Given the description of an element on the screen output the (x, y) to click on. 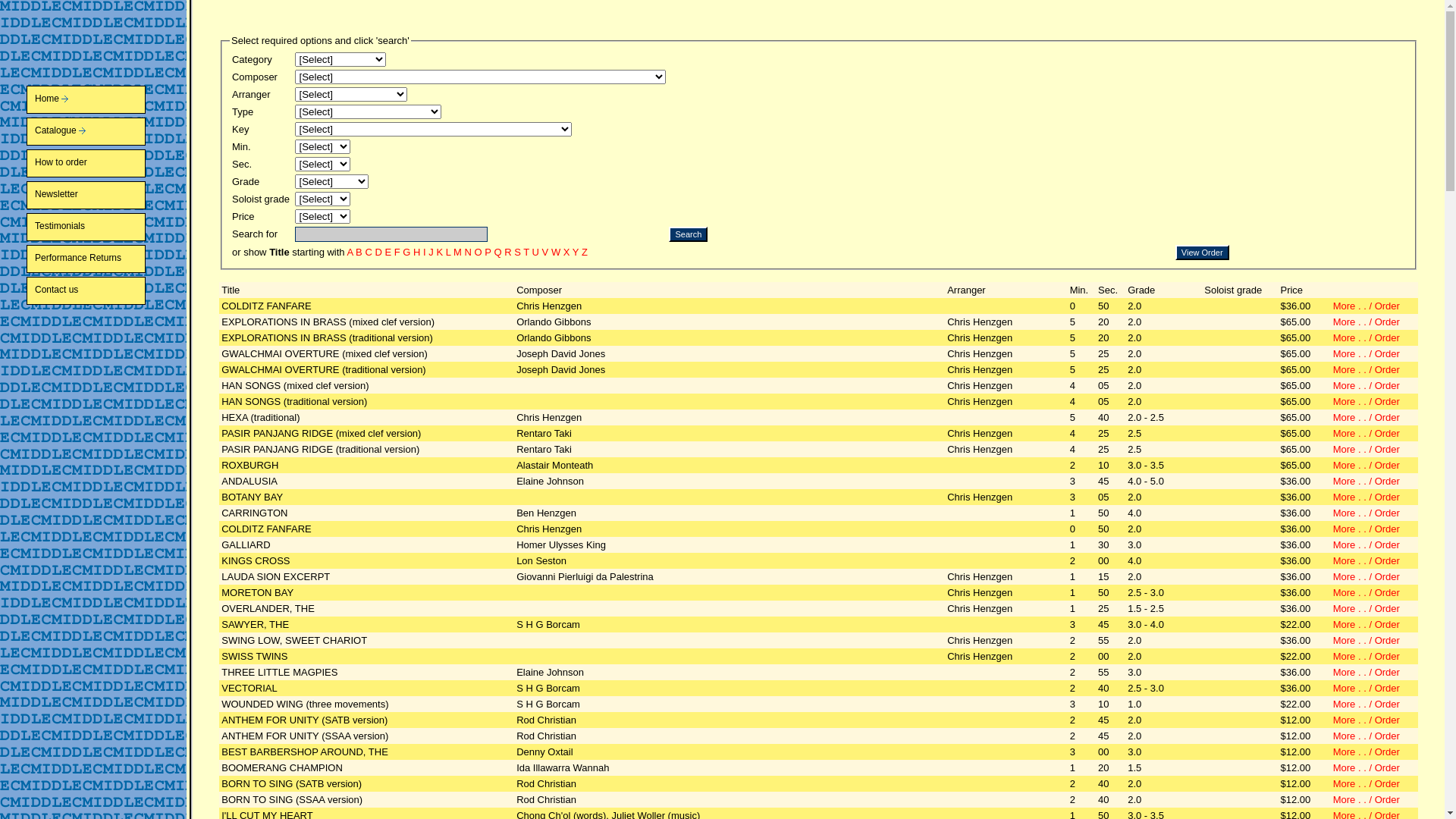
More . . / Order Element type: text (1366, 417)
More . . / Order Element type: text (1366, 624)
T Element type: text (526, 251)
W Element type: text (555, 251)
More . . / Order Element type: text (1366, 369)
L Element type: text (448, 251)
Newsletter Element type: text (104, 195)
Testimonials Element type: text (104, 227)
Performance Returns Element type: text (104, 258)
Contact us Element type: text (104, 290)
Y Element type: text (575, 251)
More . . / Order Element type: text (1366, 401)
B Element type: text (358, 251)
Z Element type: text (584, 251)
More . . / Order Element type: text (1366, 671)
More . . / Order Element type: text (1366, 321)
More . . / Order Element type: text (1366, 353)
More . . / Order Element type: text (1366, 480)
More . . / Order Element type: text (1366, 449)
More . . / Order Element type: text (1366, 385)
More . . / Order Element type: text (1366, 512)
More . . / Order Element type: text (1366, 719)
N Element type: text (467, 251)
M Element type: text (457, 251)
More . . / Order Element type: text (1366, 751)
More . . / Order Element type: text (1366, 592)
X Element type: text (566, 251)
R Element type: text (507, 251)
More . . / Order Element type: text (1366, 560)
More . . / Order Element type: text (1366, 767)
H Element type: text (416, 251)
O Element type: text (478, 251)
D Element type: text (377, 251)
J Element type: text (430, 251)
More . . / Order Element type: text (1366, 608)
More . . / Order Element type: text (1366, 703)
V Element type: text (545, 251)
S Element type: text (517, 251)
Home  Element type: text (104, 99)
K Element type: text (439, 251)
More . . / Order Element type: text (1366, 305)
Q Element type: text (497, 251)
G Element type: text (406, 251)
How to order Element type: text (104, 163)
I Element type: text (424, 251)
C Element type: text (367, 251)
U Element type: text (535, 251)
View Order Element type: text (1202, 252)
More . . / Order Element type: text (1366, 464)
More . . / Order Element type: text (1366, 783)
P Element type: text (487, 251)
More . . / Order Element type: text (1366, 433)
A Element type: text (350, 251)
More . . / Order Element type: text (1366, 544)
More . . / Order Element type: text (1366, 735)
F Element type: text (397, 251)
More . . / Order Element type: text (1366, 576)
More . . / Order Element type: text (1366, 640)
More . . / Order Element type: text (1366, 528)
E Element type: text (387, 251)
More . . / Order Element type: text (1366, 656)
Search Element type: text (687, 233)
More . . / Order Element type: text (1366, 799)
More . . / Order Element type: text (1366, 337)
More . . / Order Element type: text (1366, 496)
More . . / Order Element type: text (1366, 687)
